Given the description of an element on the screen output the (x, y) to click on. 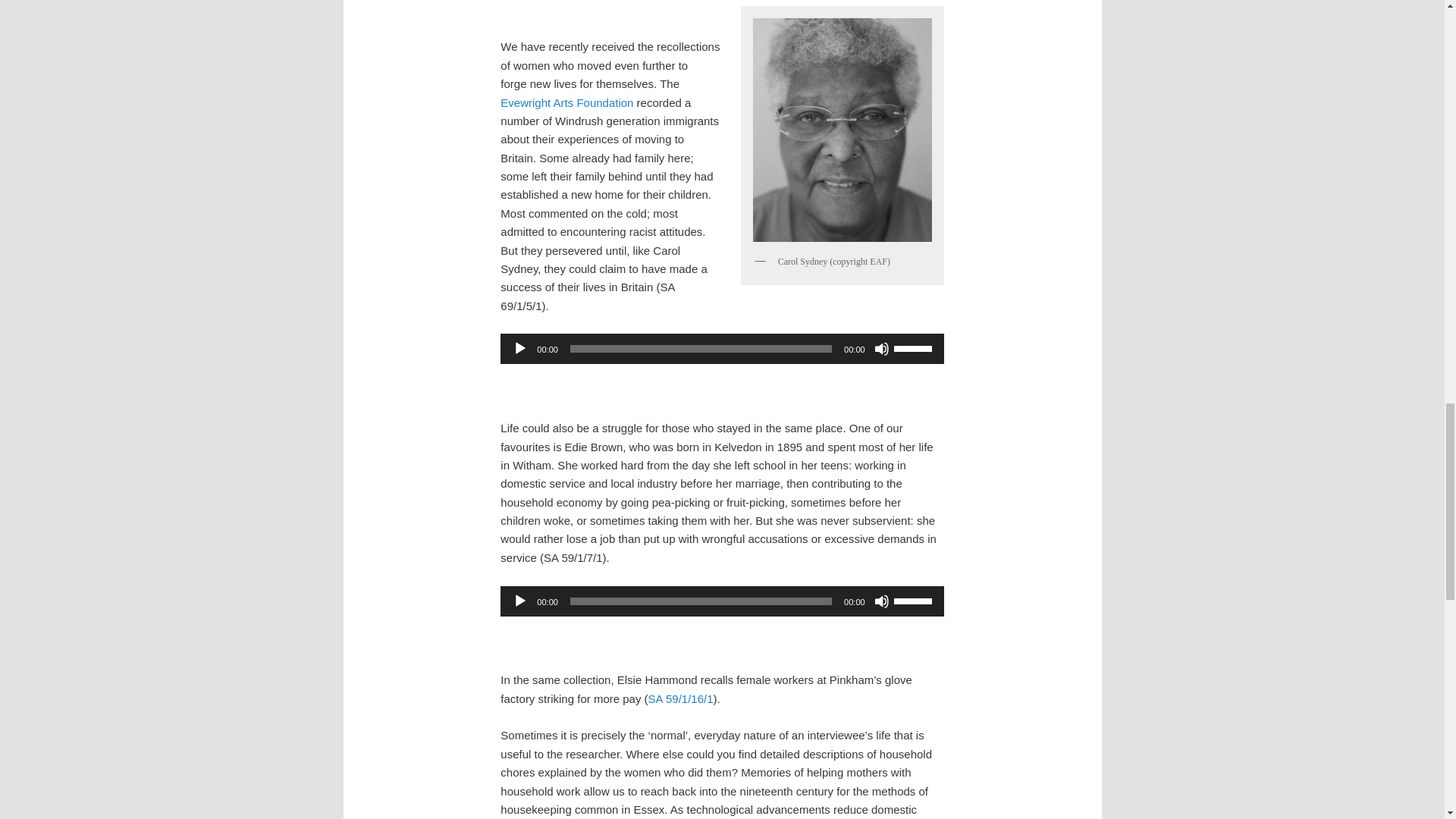
Mute (882, 601)
Evewright Arts Foundation (566, 102)
Play (519, 601)
Play (519, 348)
Mute (882, 348)
